Given the description of an element on the screen output the (x, y) to click on. 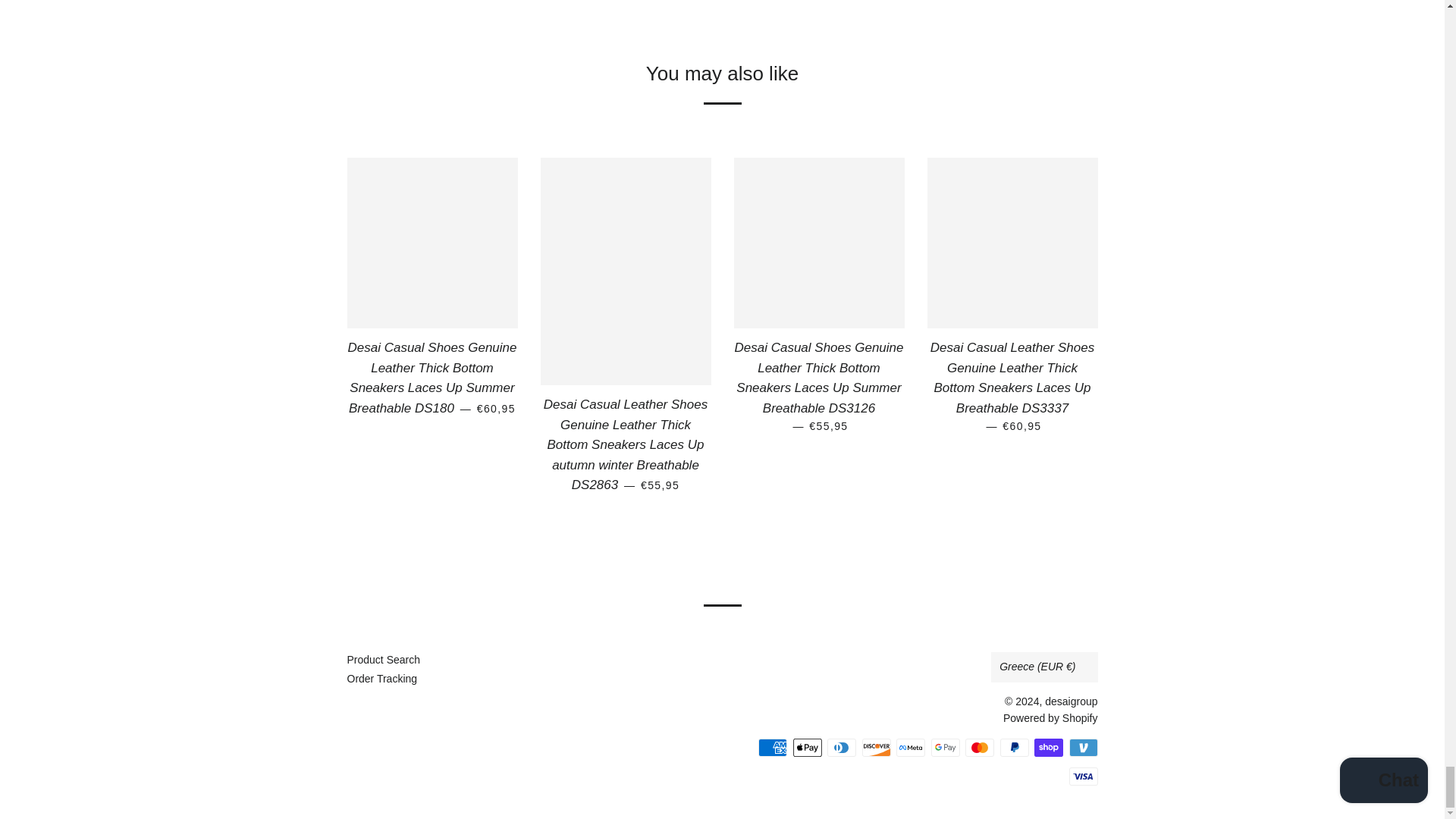
Visa (1082, 776)
Apple Pay (807, 747)
Venmo (1082, 747)
Meta Pay (910, 747)
Shop Pay (1047, 747)
Discover (875, 747)
Google Pay (945, 747)
Mastercard (979, 747)
American Express (772, 747)
Diners Club (841, 747)
